Given the description of an element on the screen output the (x, y) to click on. 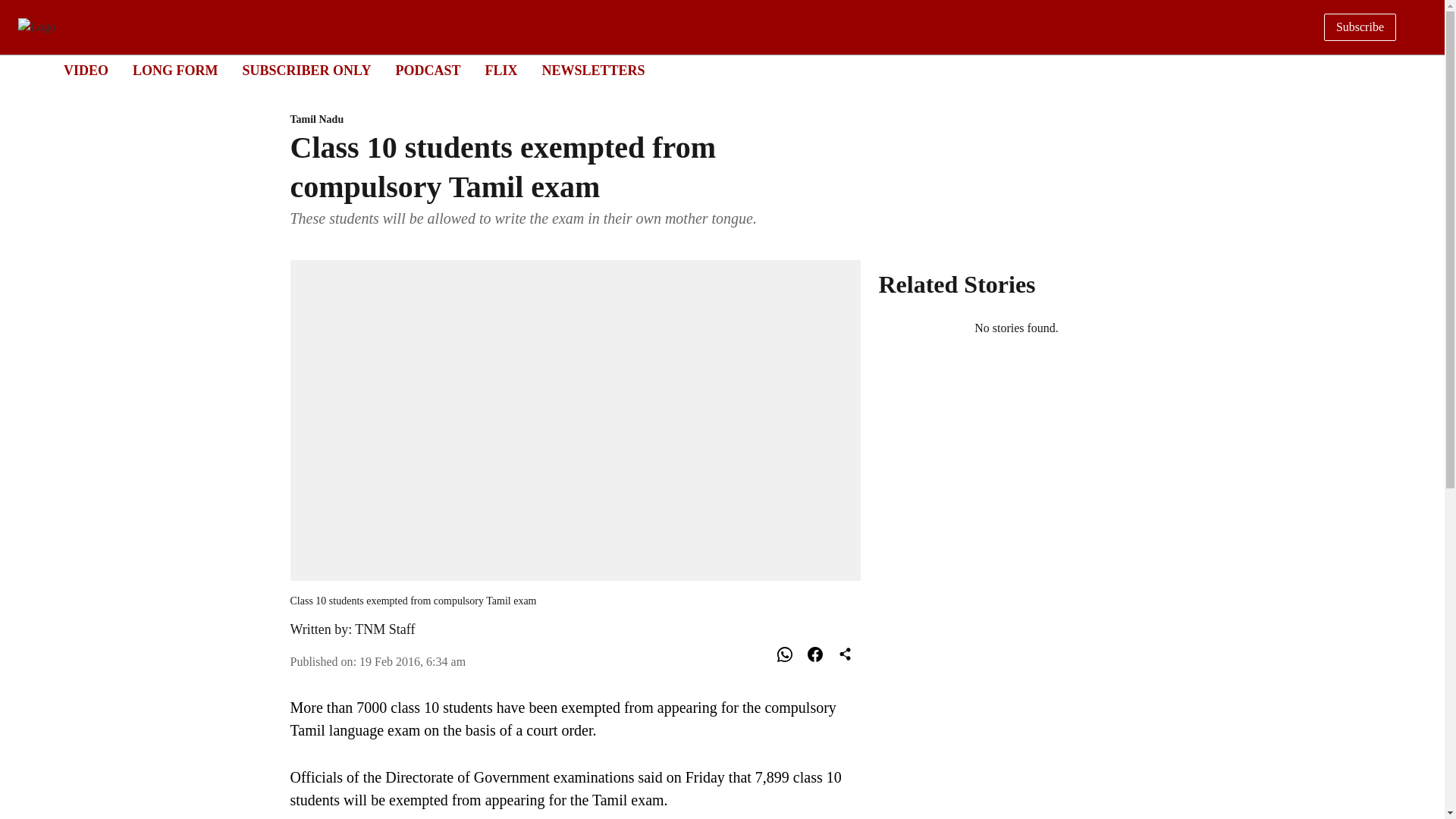
FLIX (500, 70)
2016-02-19 06:34 (412, 661)
VIDEO (85, 70)
NEWSLETTERS (707, 70)
TNM Staff (593, 70)
PODCAST (384, 629)
Tamil Nadu (427, 70)
LONG FORM (574, 119)
SUBSCRIBER ONLY (175, 70)
